Given the description of an element on the screen output the (x, y) to click on. 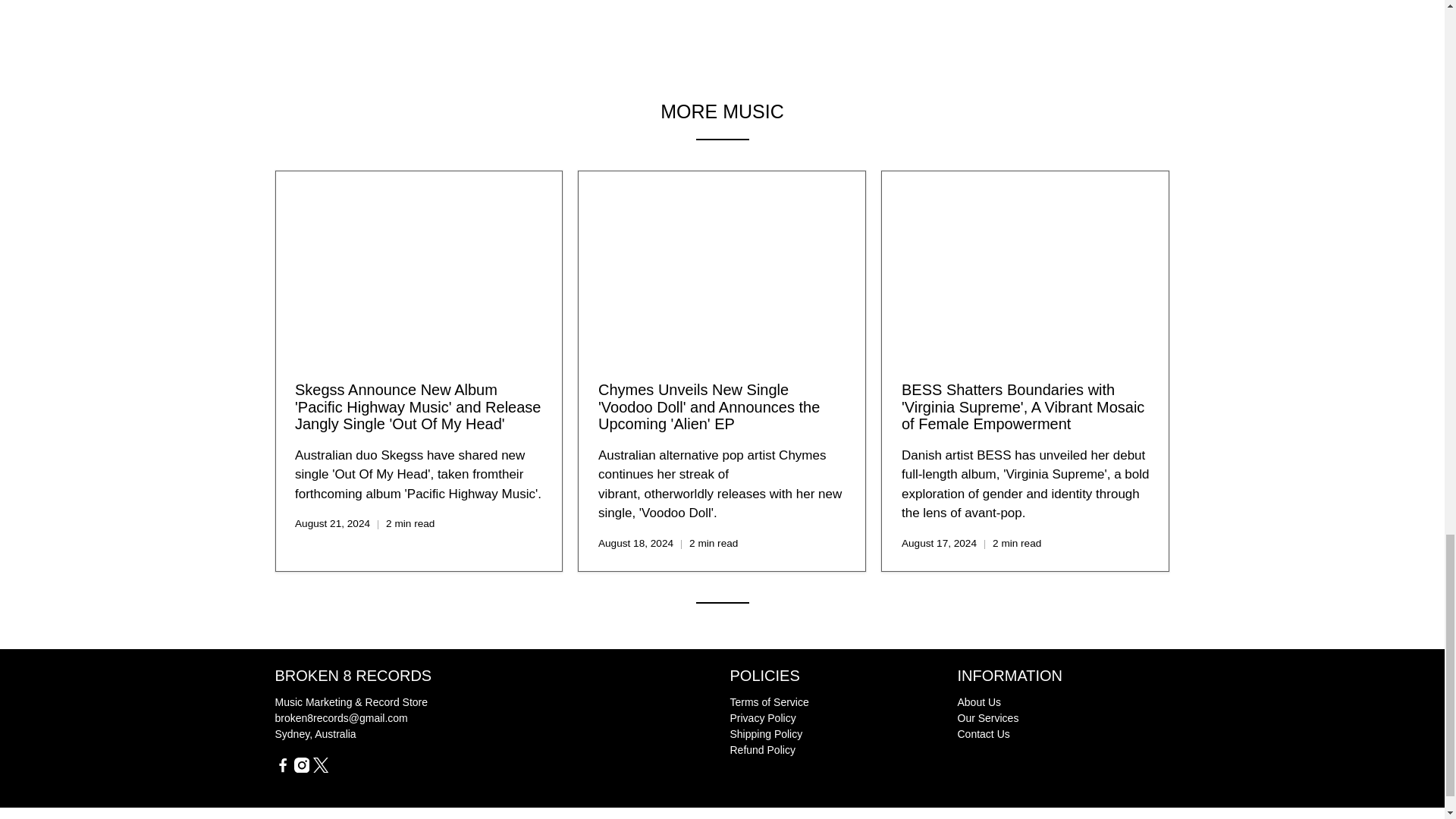
MORE MUSIC (722, 111)
